Given the description of an element on the screen output the (x, y) to click on. 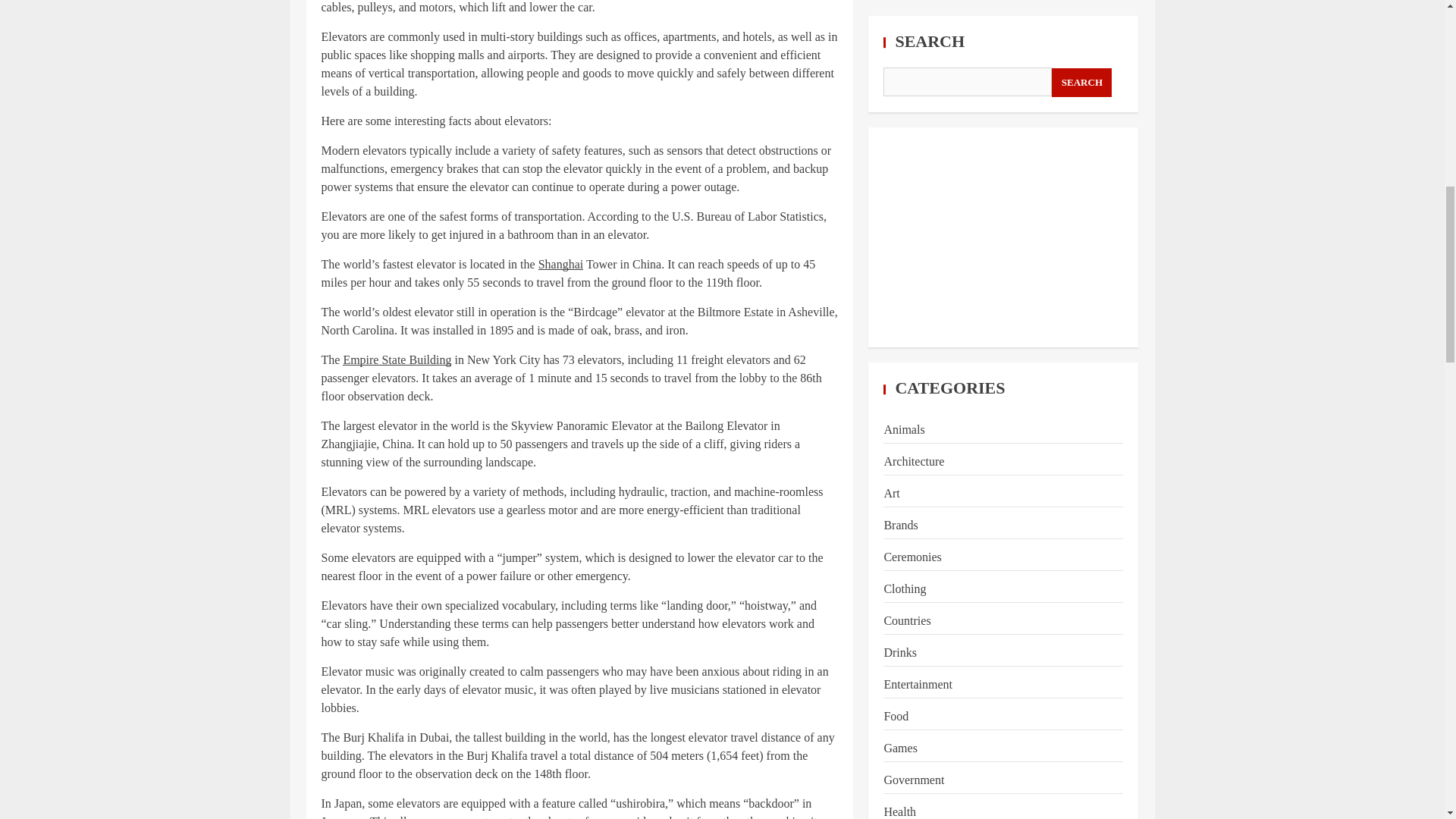
Shanghai (560, 264)
Empire State Building (396, 359)
